Given the description of an element on the screen output the (x, y) to click on. 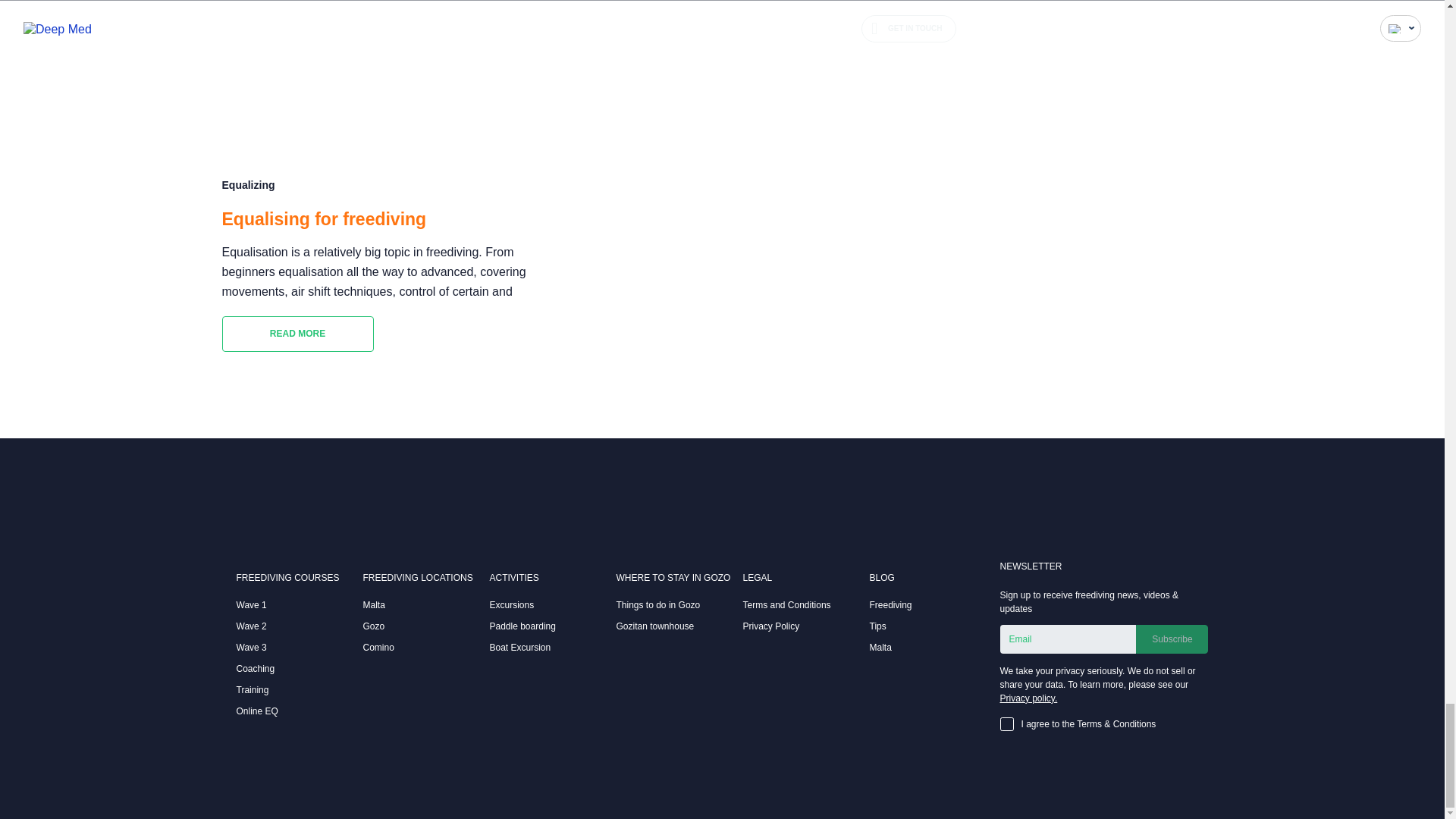
Deep Med (282, 549)
Subscribe (1171, 638)
Equalizing (248, 184)
